Given the description of an element on the screen output the (x, y) to click on. 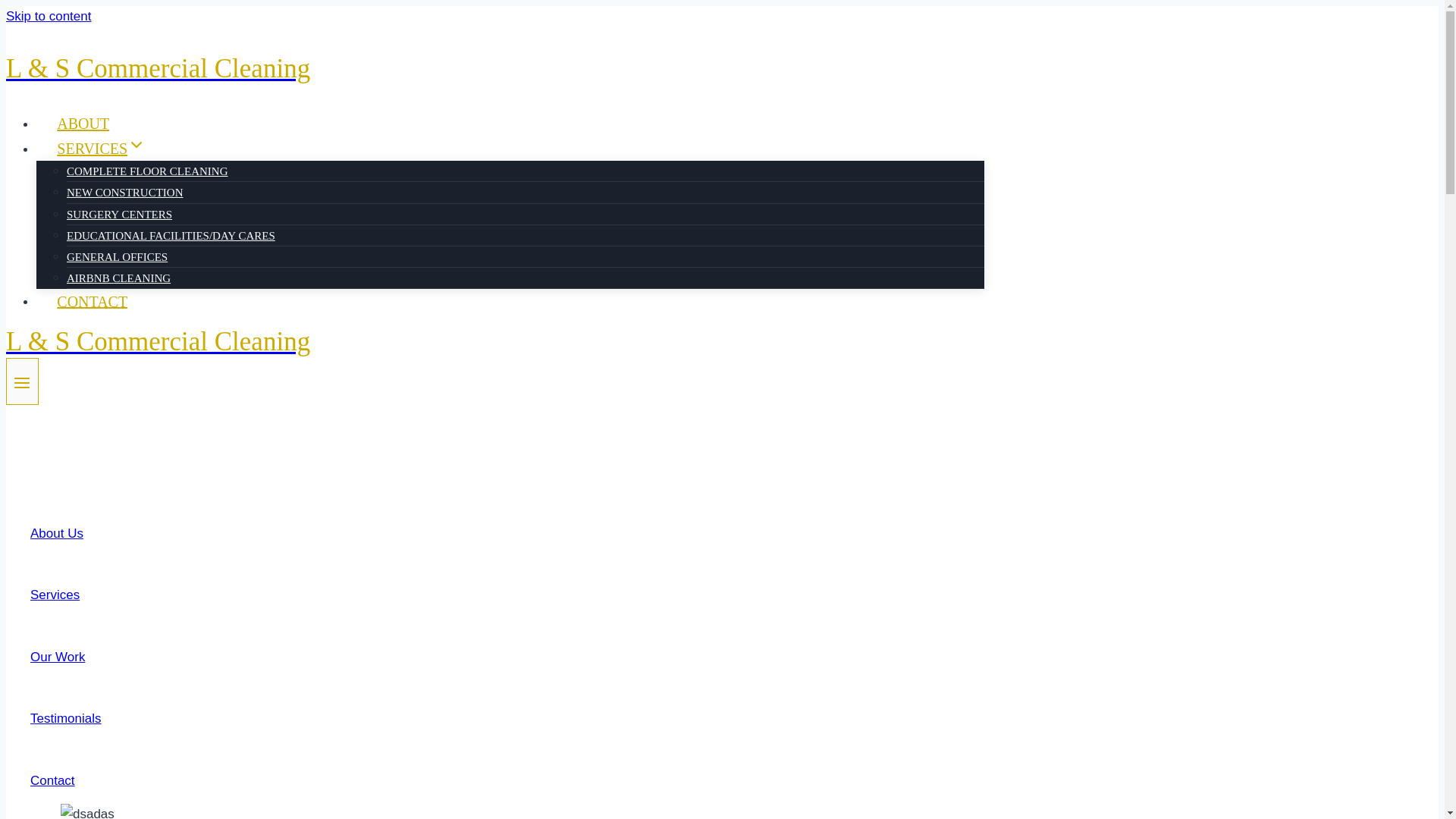
Our Work (57, 667)
Skip to content (47, 16)
CONTACT (92, 301)
SERVICESEXPAND (100, 148)
EXPAND (136, 144)
AIRBNB CLEANING (118, 278)
NEW CONSTRUCTION (124, 192)
GENERAL OFFICES (116, 256)
Contact (52, 790)
Toggle Menu (21, 382)
Testimonials (65, 728)
ABOUT (82, 123)
About Us (56, 543)
Skip to content (47, 16)
COMPLETE FLOOR CLEANING (147, 171)
